Given the description of an element on the screen output the (x, y) to click on. 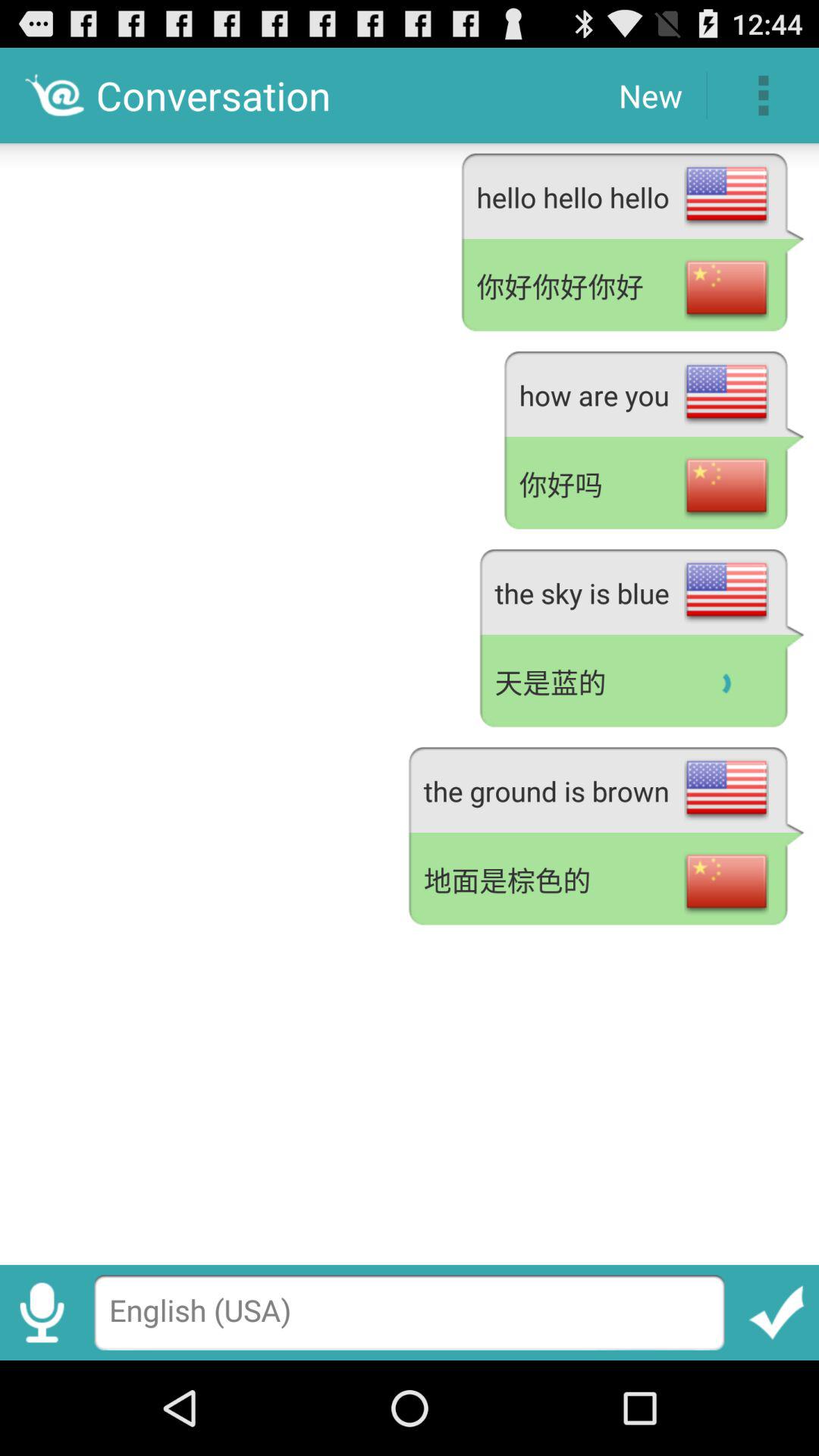
tap the item to the right of new icon (763, 95)
